Given the description of an element on the screen output the (x, y) to click on. 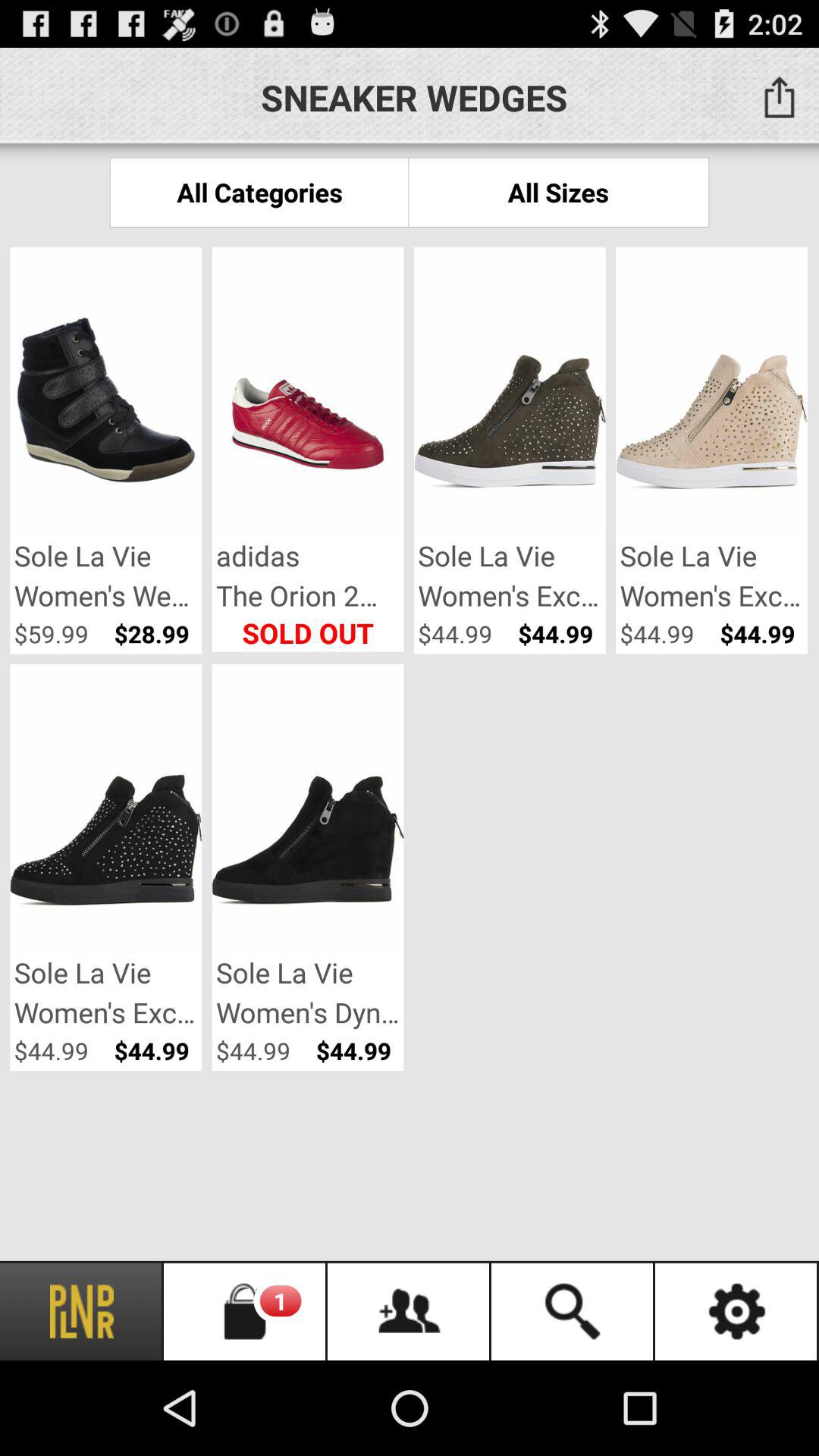
launch app to the left of all sizes (259, 192)
